Given the description of an element on the screen output the (x, y) to click on. 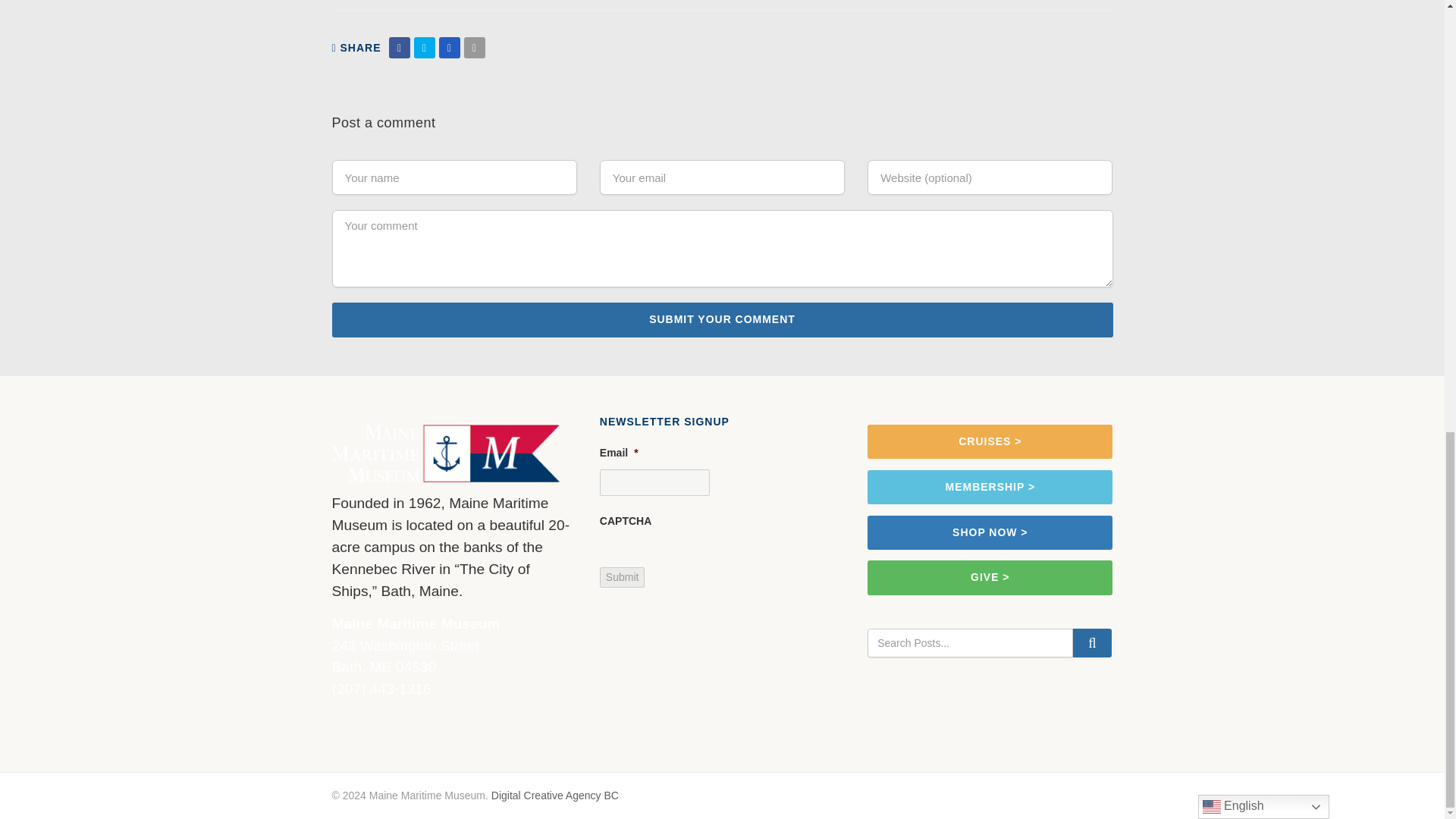
Email (474, 47)
Tweet (424, 47)
Submit your comment (722, 319)
Share on Facebook (399, 47)
Submit (622, 577)
